Given the description of an element on the screen output the (x, y) to click on. 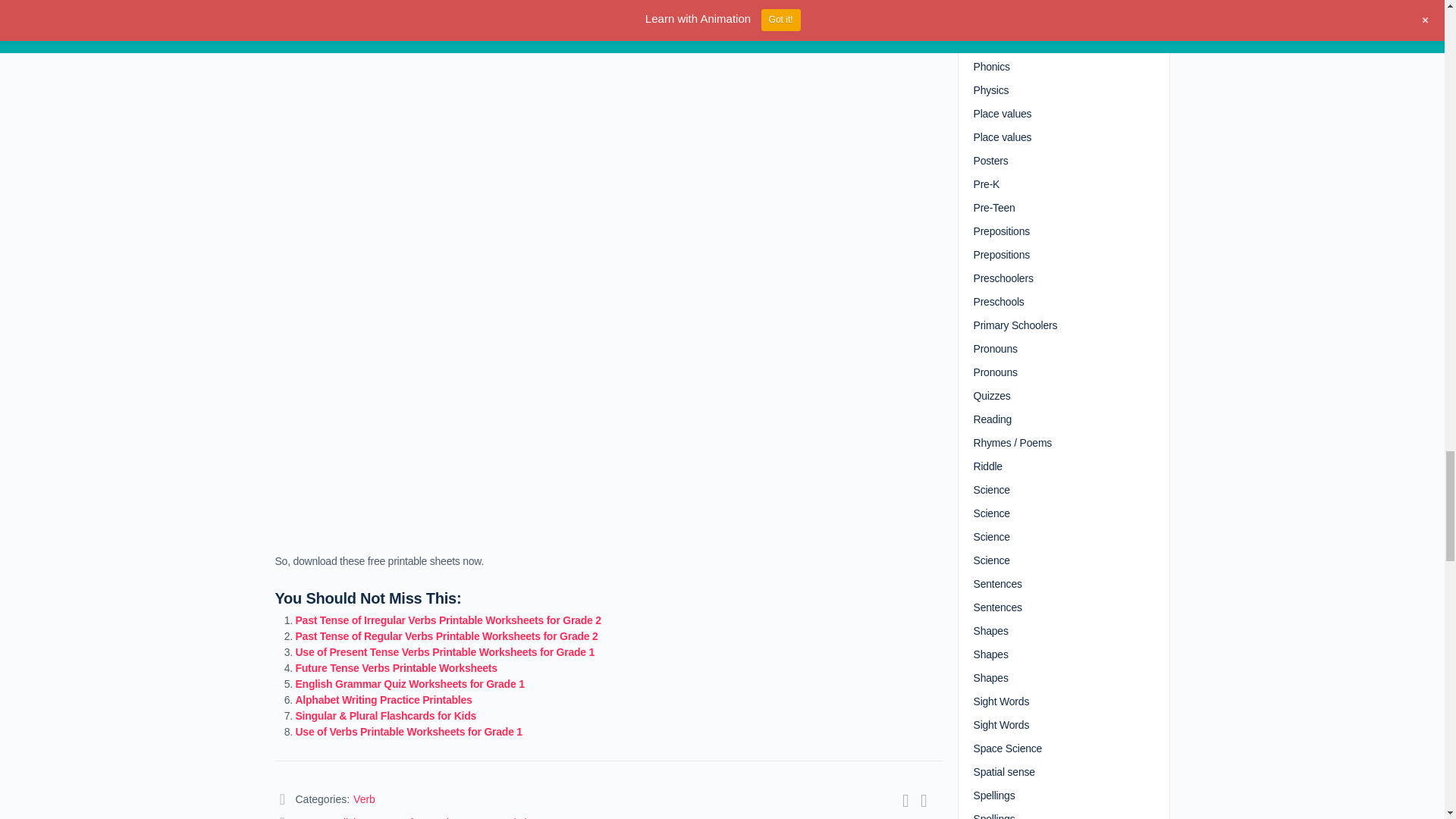
Use of Present Tense Verbs Printable Worksheets for Grade 1 (445, 652)
Use of Verbs Printable Worksheets for Grade 1 (408, 731)
English Grammar Quiz Worksheets for Grade 1 (409, 684)
Future Tense Verbs Printable Worksheets (396, 667)
Alphabet Writing Practice Printables (383, 699)
Past Tense of Regular Verbs Printable Worksheets for Grade 2 (446, 635)
